Given the description of an element on the screen output the (x, y) to click on. 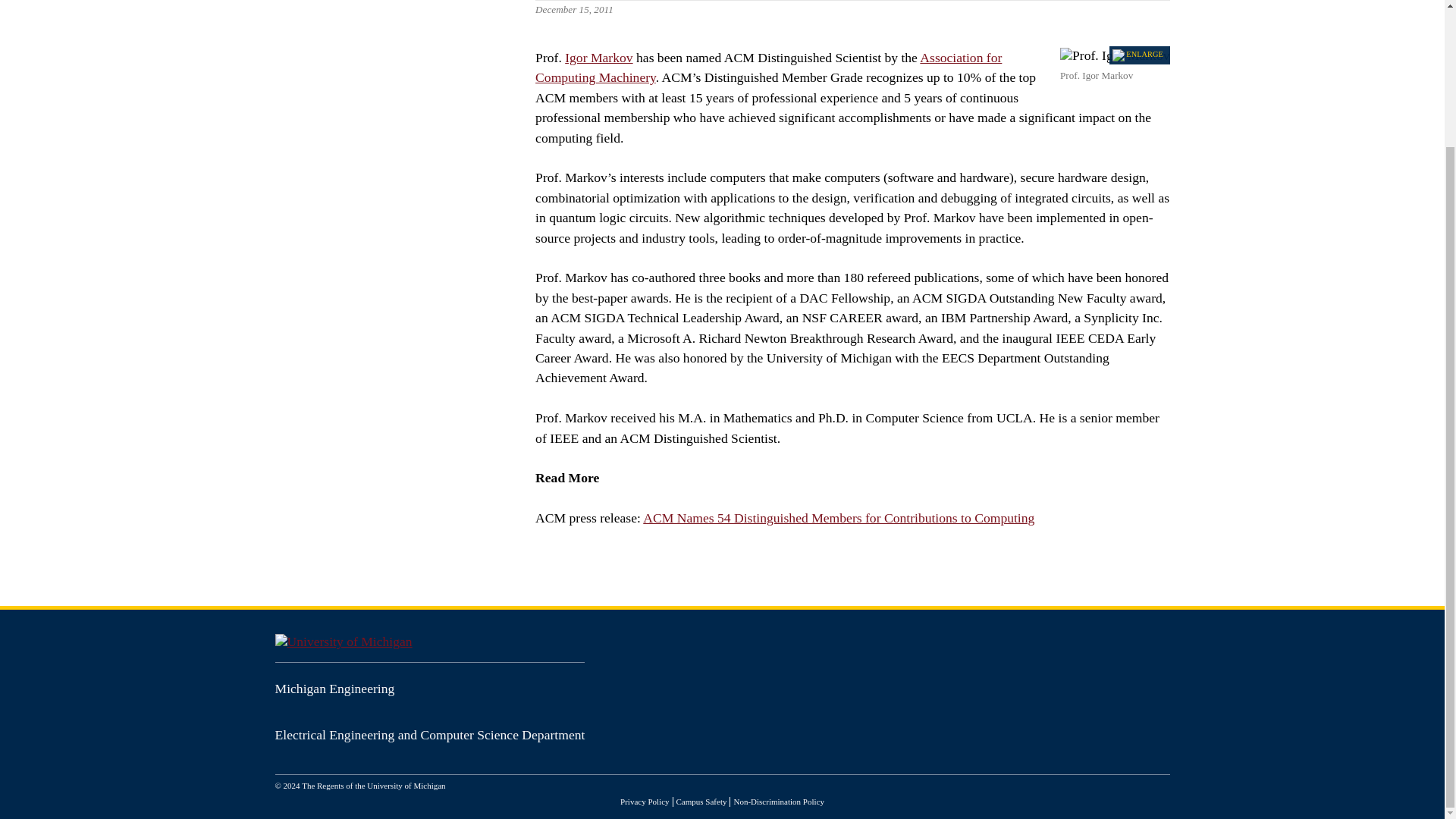
Association for Computing Machinery (768, 67)
Electrical Engineering and Computer Science Department (430, 734)
Michigan Engineering (334, 688)
Campus Safety (701, 800)
The Regents of the University of Michigan (373, 785)
Non-Discrimination Policy (778, 800)
Privacy Policy (644, 800)
Igor Markov (597, 57)
